Given the description of an element on the screen output the (x, y) to click on. 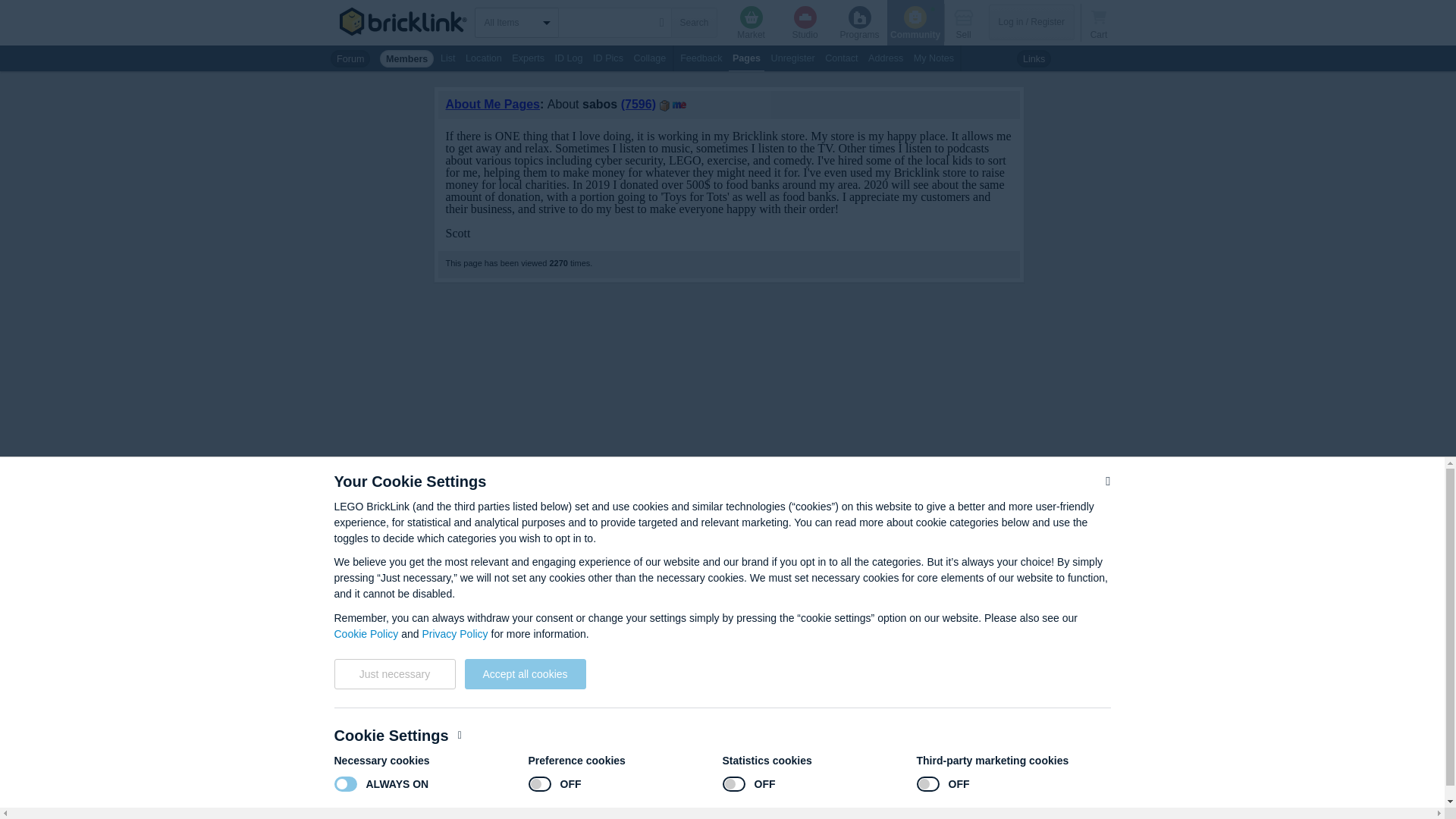
Search (693, 22)
Programs (859, 22)
Market (751, 22)
All Items (520, 22)
Studio (804, 22)
